Given the description of an element on the screen output the (x, y) to click on. 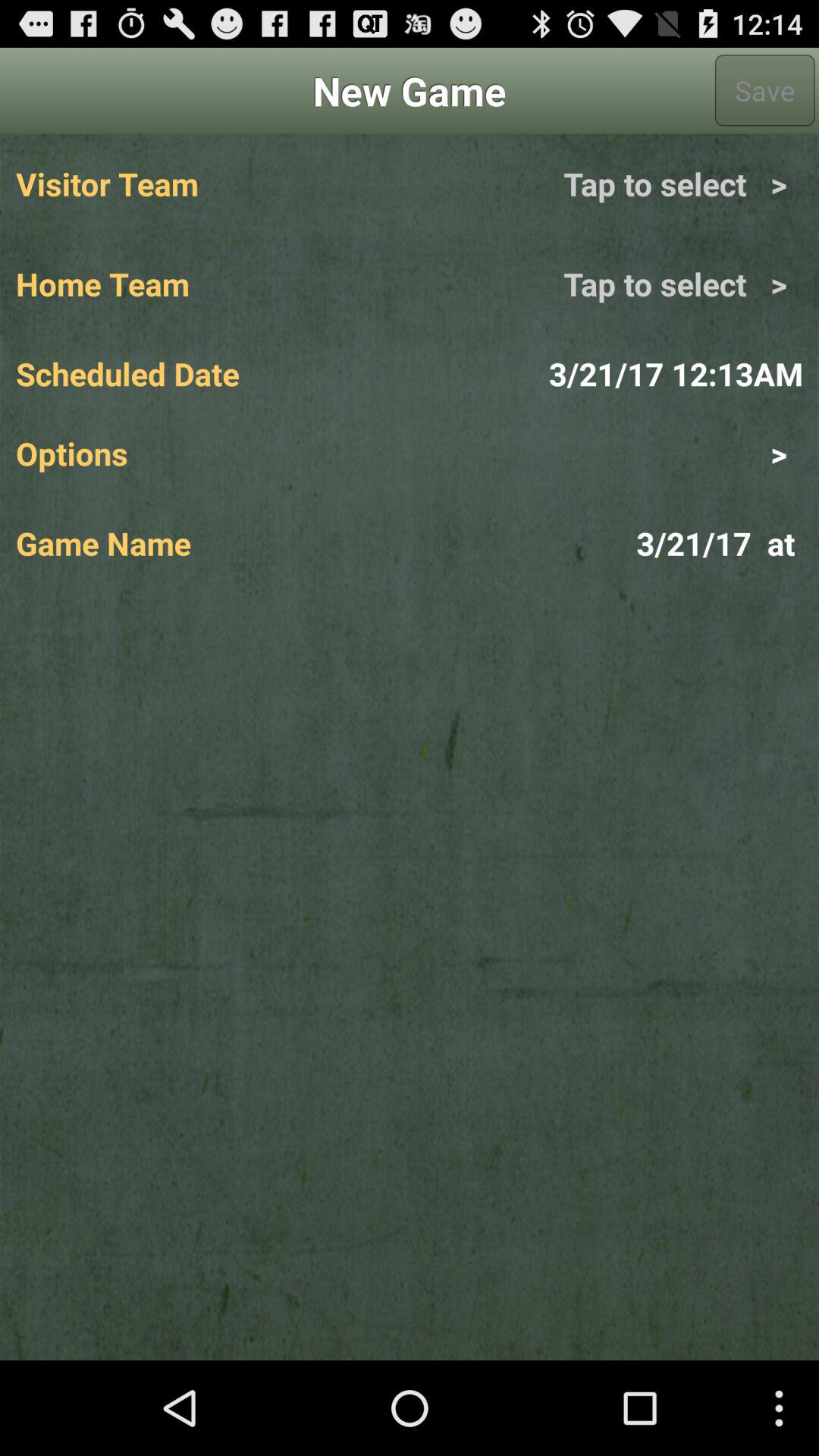
jump until the save item (764, 90)
